Given the description of an element on the screen output the (x, y) to click on. 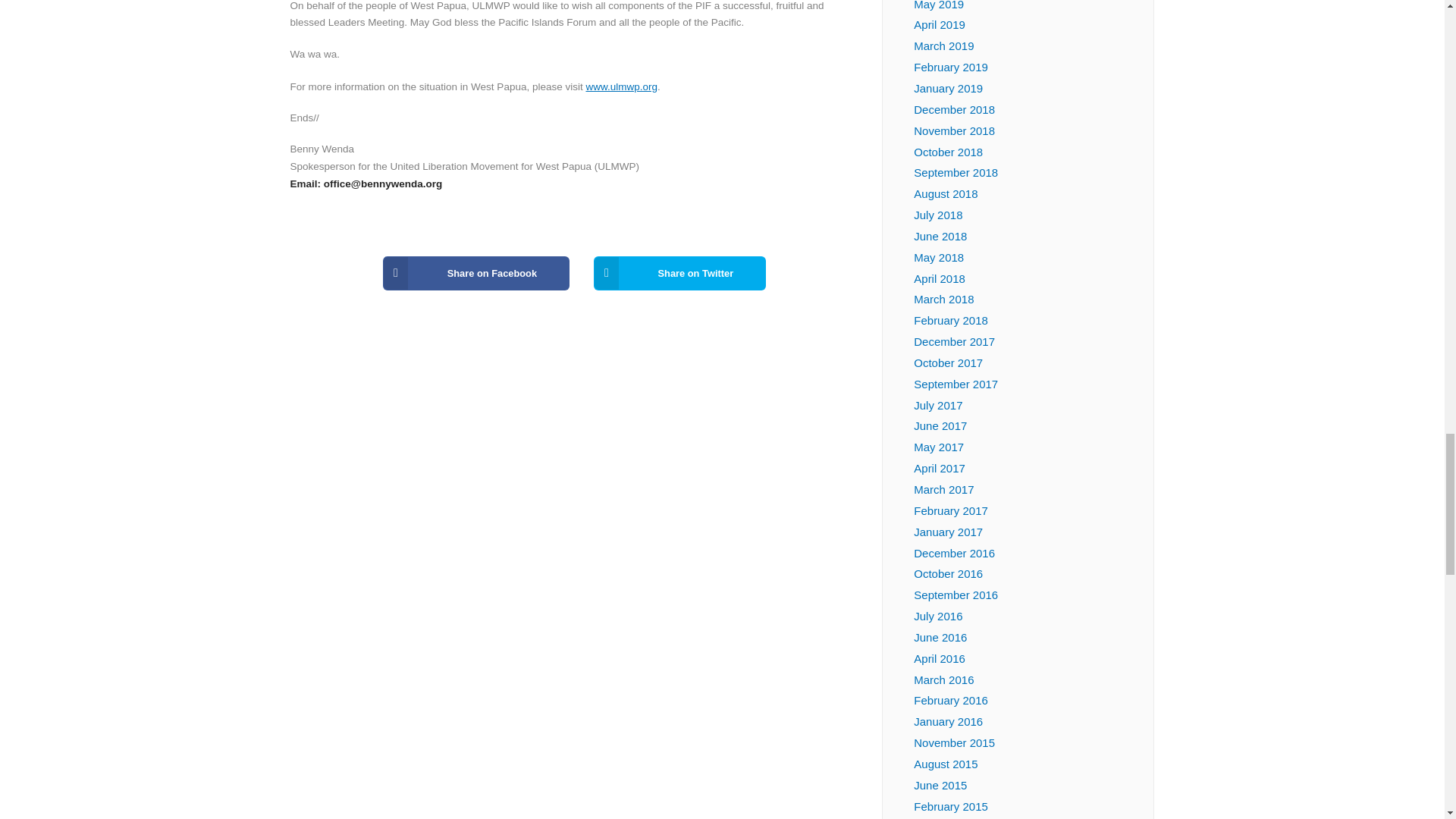
Share on Twitter (679, 273)
Share on Facebook (475, 273)
www.ulmwp.org (621, 86)
